Given the description of an element on the screen output the (x, y) to click on. 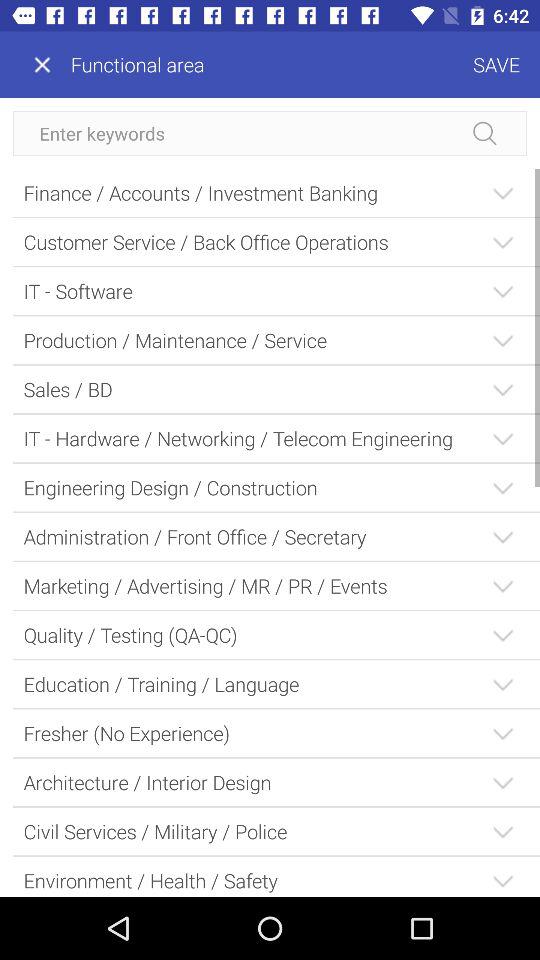
search (269, 133)
